Given the description of an element on the screen output the (x, y) to click on. 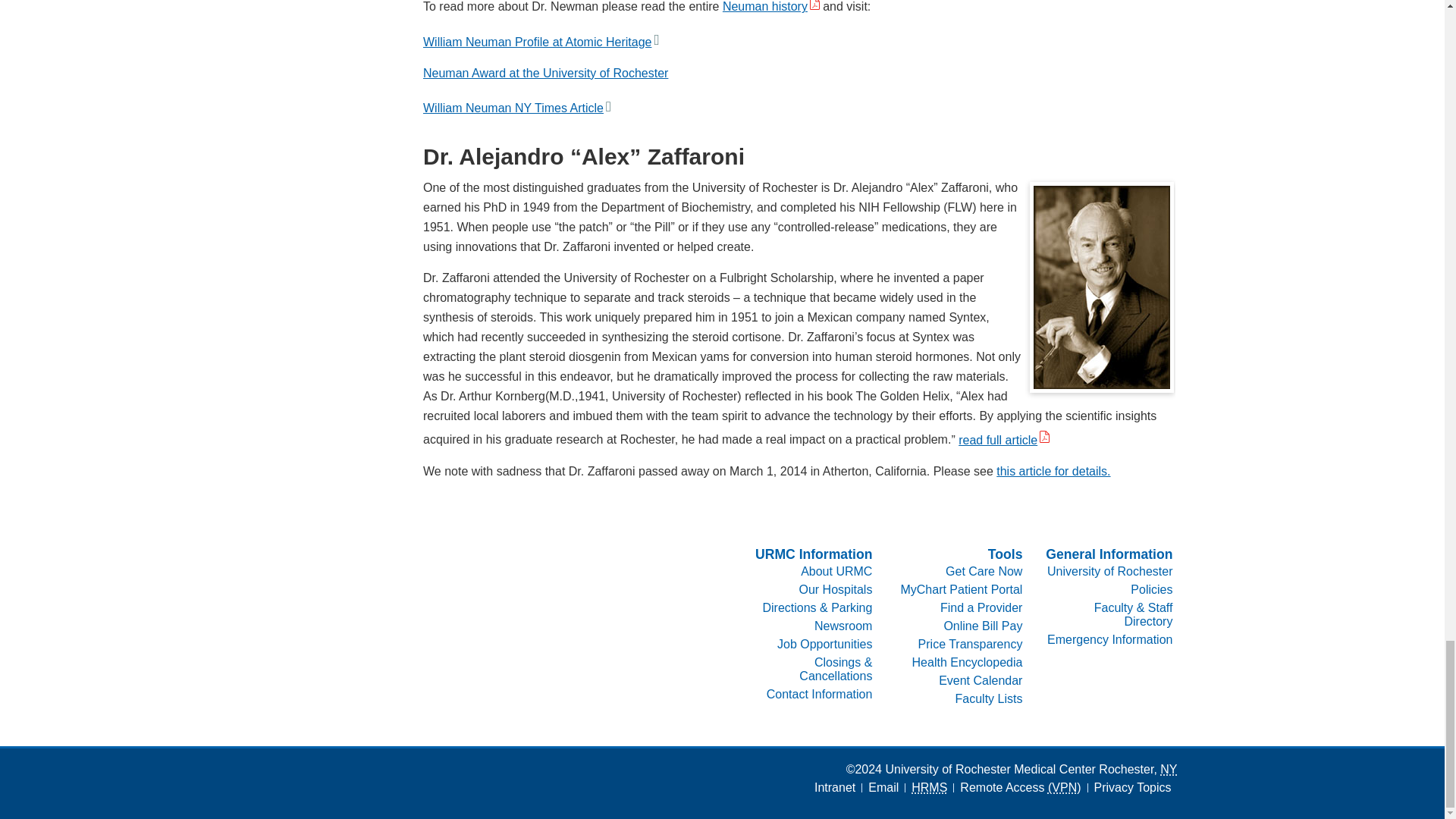
New York (1168, 768)
Virtual Private Network (1064, 787)
Human Resources Management System (929, 787)
